Given the description of an element on the screen output the (x, y) to click on. 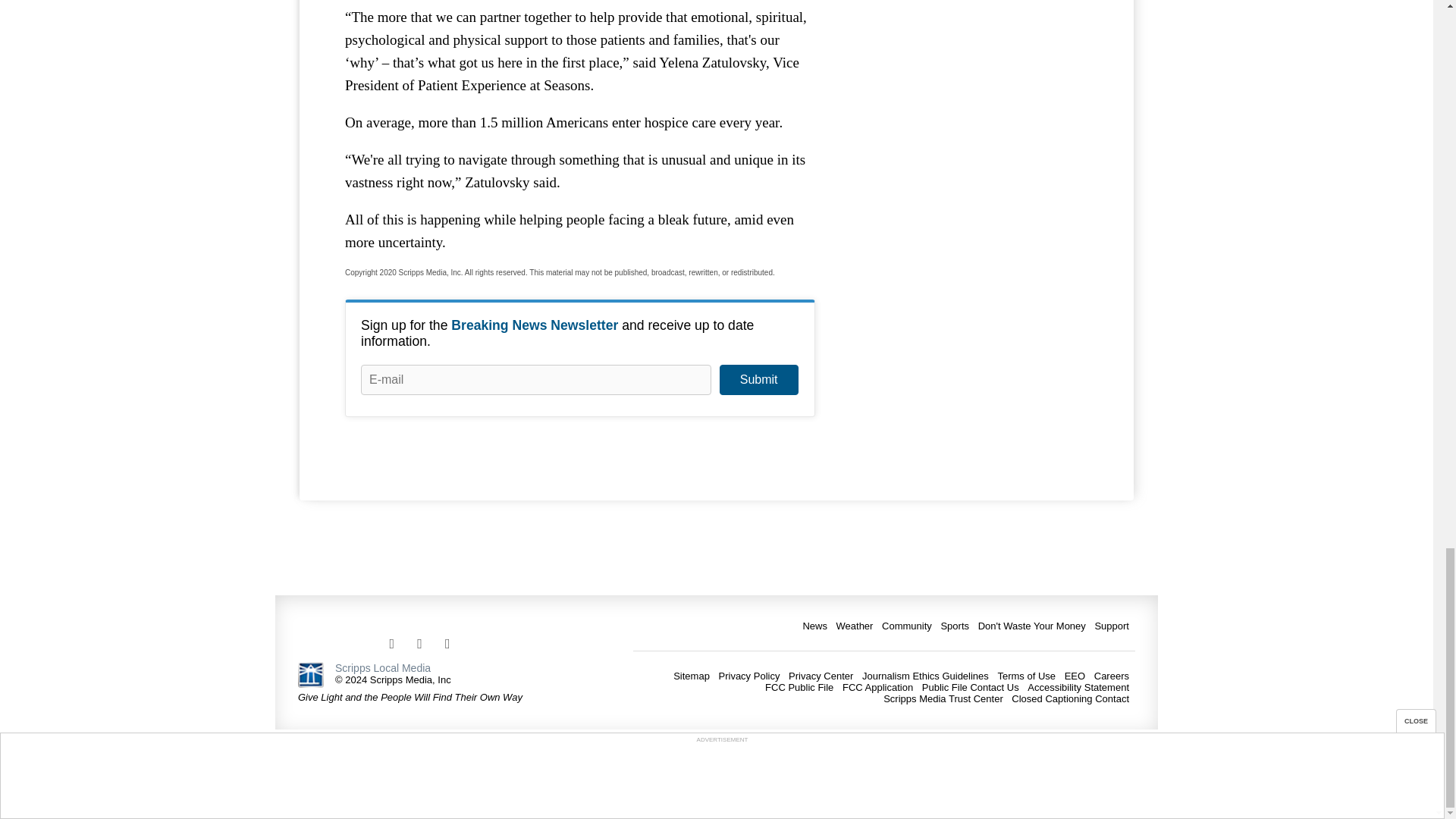
Submit (758, 379)
